Given the description of an element on the screen output the (x, y) to click on. 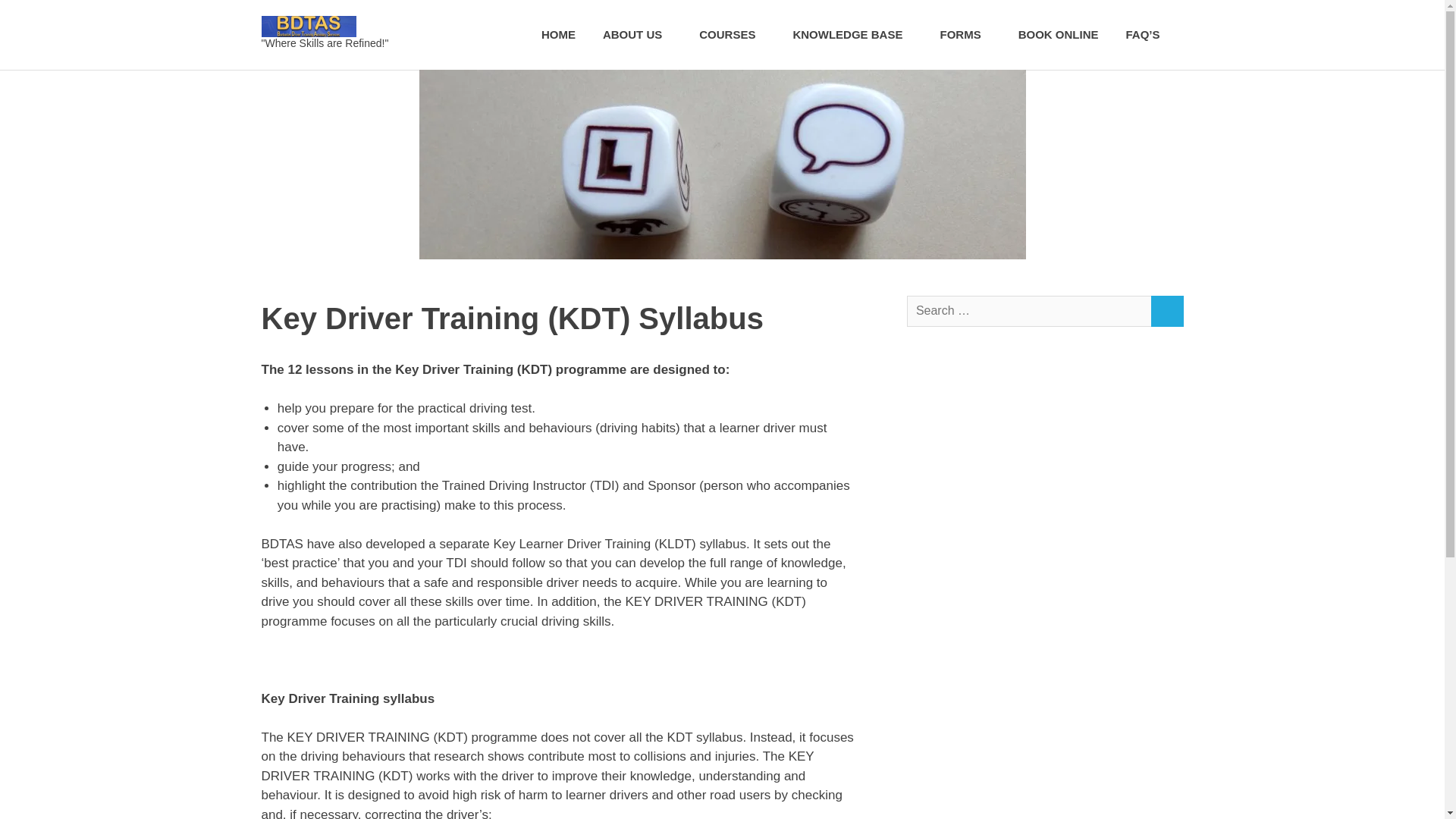
ABOUT US (637, 35)
COURSES (731, 35)
HOME (558, 35)
Search for: (1029, 310)
